Given the description of an element on the screen output the (x, y) to click on. 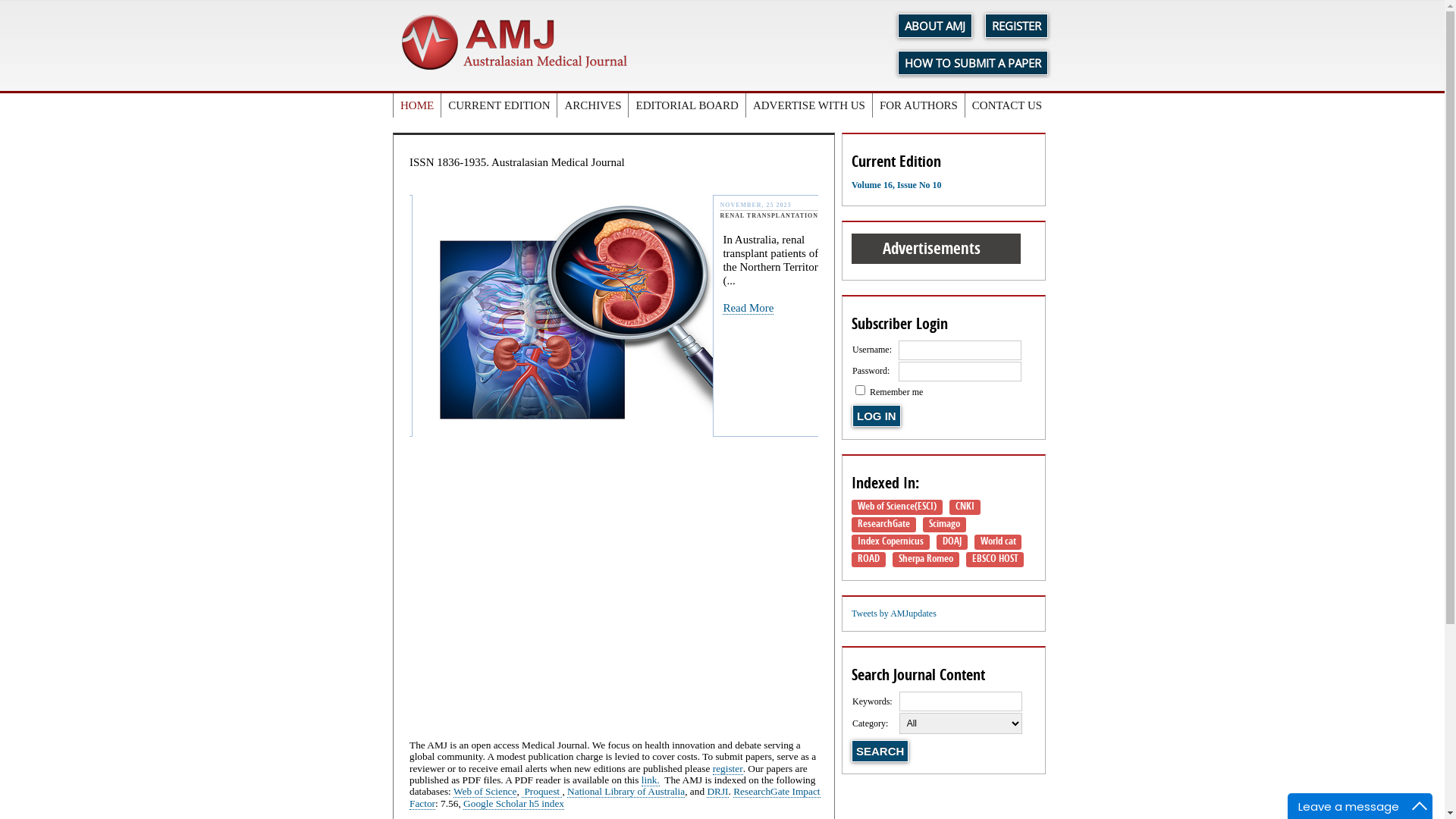
DRJI Element type: text (717, 791)
ABOUT AMJ Element type: text (934, 25)
Proquest Element type: text (541, 791)
register Element type: text (727, 768)
CNKI Element type: text (964, 506)
Scimago Element type: text (944, 524)
Index Copernicus Element type: text (890, 541)
EDITORIAL BOARD Element type: text (686, 105)
HOME Element type: text (417, 105)
World cat Element type: text (998, 541)
ResearchGate Impact Factor Element type: text (614, 797)
ROAD Element type: text (868, 559)
HOW TO SUBMIT A PAPER Element type: text (972, 62)
ADVERTISE WITH US Element type: text (809, 105)
Web of Science(ESCI) Element type: text (896, 506)
Google Scholar h5 index Element type: text (513, 803)
ARCHIVES Element type: text (592, 105)
National Library of Australia Element type: text (625, 791)
REGISTER Element type: text (1016, 25)
Maximize Element type: hover (1419, 806)
FOR AUTHORS Element type: text (918, 105)
EBSCO HOST Element type: text (995, 559)
Sherpa Romeo Element type: text (925, 559)
Web of Science Element type: text (484, 791)
ResearchGate Element type: text (883, 524)
CURRENT EDITION Element type: text (499, 105)
Log In Element type: text (876, 415)
Search Element type: text (879, 751)
CONTACT US Element type: text (1007, 105)
DOAJ Element type: text (951, 541)
Tweets by AMJupdates Element type: text (893, 613)
AMJ Element type: text (515, 46)
link. Element type: text (650, 780)
Volume 16, Issue No 10 Element type: text (896, 184)
Read More Element type: text (733, 314)
